Given the description of an element on the screen output the (x, y) to click on. 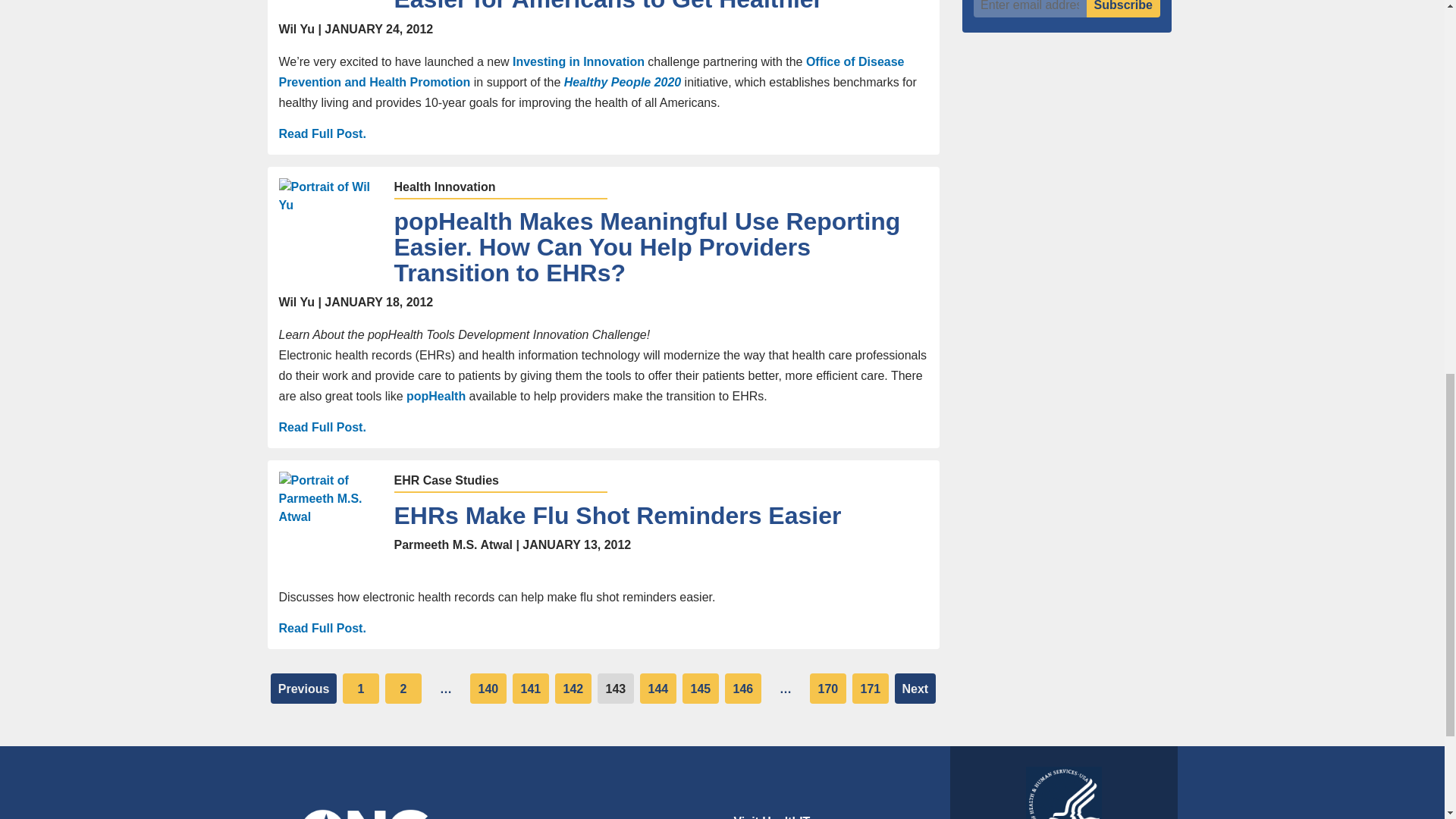
Wil Yu (330, 228)
Office of Disease Prevention and Health Promotion (591, 70)
Read Full Post. (322, 628)
popHealth (437, 395)
Health Innovation (445, 186)
Wil Yu (330, 3)
Healthy People 2020 (622, 82)
Read Full Post. (322, 133)
